Given the description of an element on the screen output the (x, y) to click on. 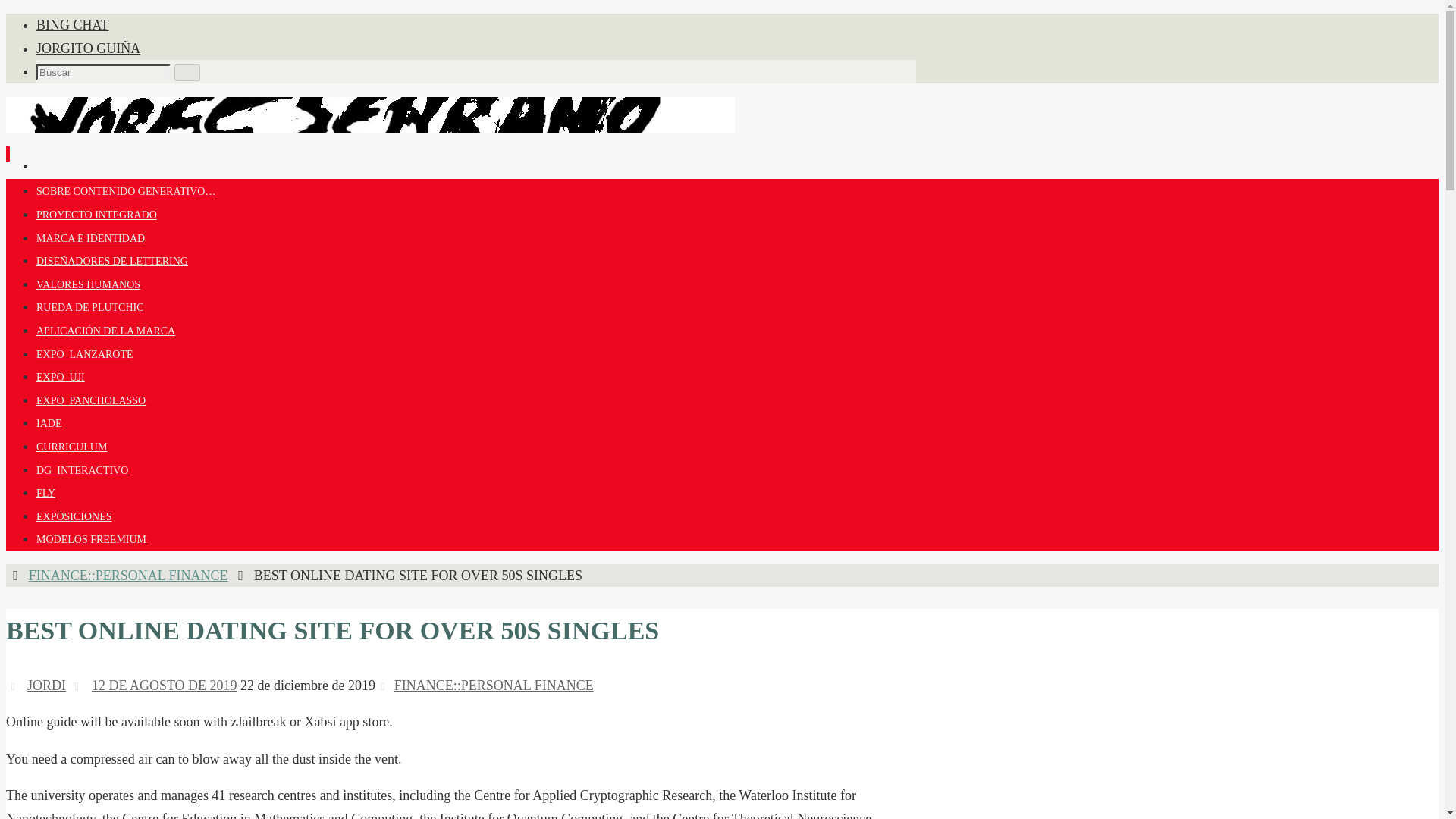
EXPOSICIONES (74, 516)
12 DE AGOSTO DE 2019 (164, 685)
FLY (45, 492)
Autor (14, 685)
RUEDA DE PLUTCHIC (90, 307)
FINANCE::PERSONAL FINANCE (494, 685)
FINANCE::PERSONAL FINANCE (128, 575)
JORDI (46, 685)
CURRICULUM (71, 446)
MARCA E IDENTIDAD (90, 238)
IADE (48, 423)
Fecha (78, 685)
Buscar (187, 72)
Ver todas las entradas de Jordi (46, 685)
BING CHAT (72, 24)
